Given the description of an element on the screen output the (x, y) to click on. 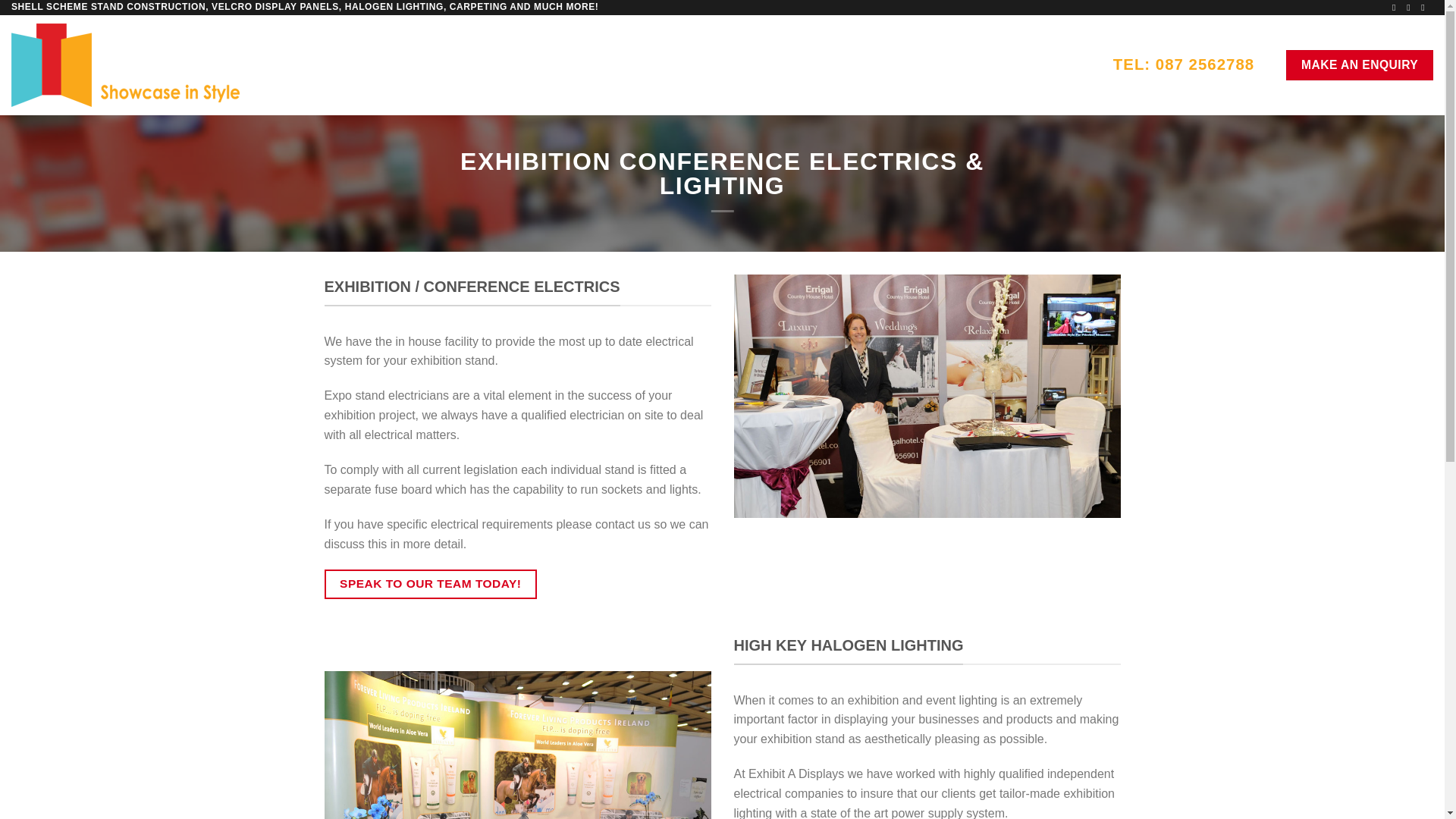
SPEAK TO OUR TEAM TODAY! (430, 583)
Follow on Facebook (1395, 7)
STANDS (782, 64)
GALLERY (962, 64)
CONTACT (1047, 64)
SERVICES (872, 64)
MAKE AN ENQUIRY (1358, 64)
Follow on Twitter (1410, 7)
Send us an email (1425, 7)
HOME (711, 64)
